Given the description of an element on the screen output the (x, y) to click on. 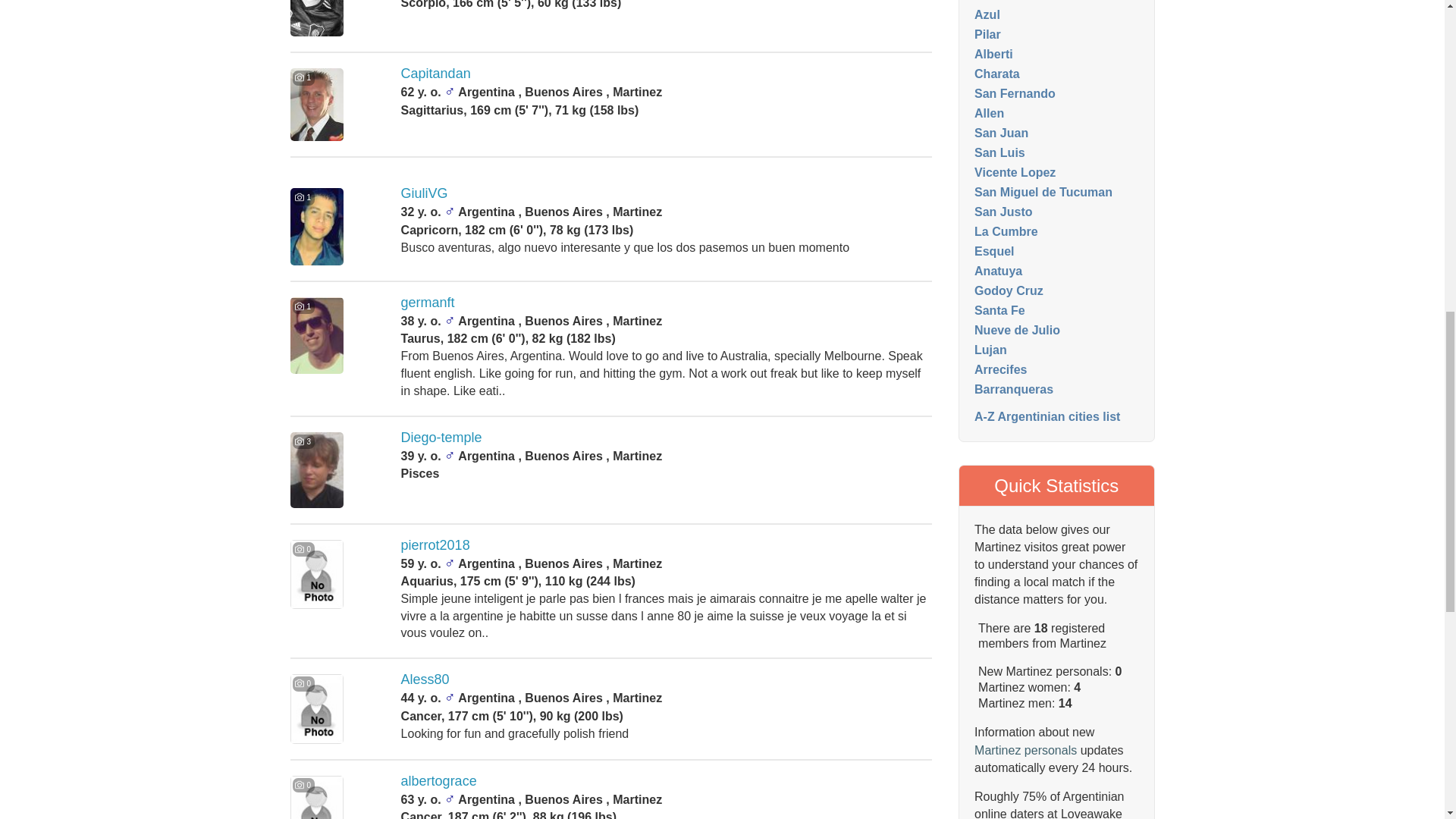
Aless80 (425, 679)
Capitandan (435, 73)
germanft (427, 302)
albertograce (439, 780)
Diego-temple (441, 437)
GiuliVG (424, 192)
pierrot2018 (435, 544)
